Given the description of an element on the screen output the (x, y) to click on. 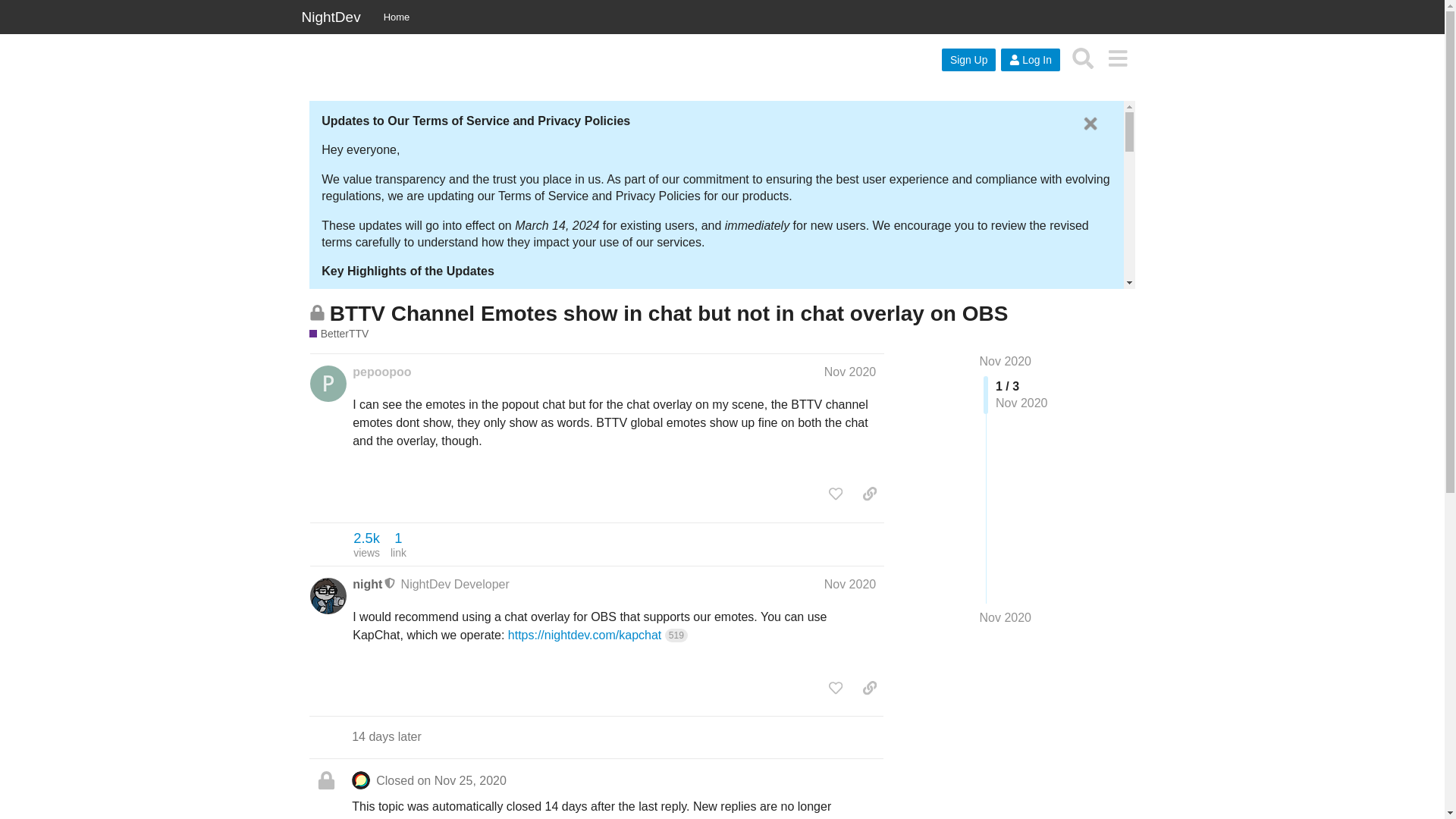
copy a link to this post to clipboard (869, 493)
menu (1117, 57)
Post date (850, 584)
like this post (835, 687)
NightDev (330, 17)
night (366, 584)
Jump to the first post (1005, 360)
Home (397, 17)
like this post (835, 493)
Nov 2020 (850, 584)
